Given the description of an element on the screen output the (x, y) to click on. 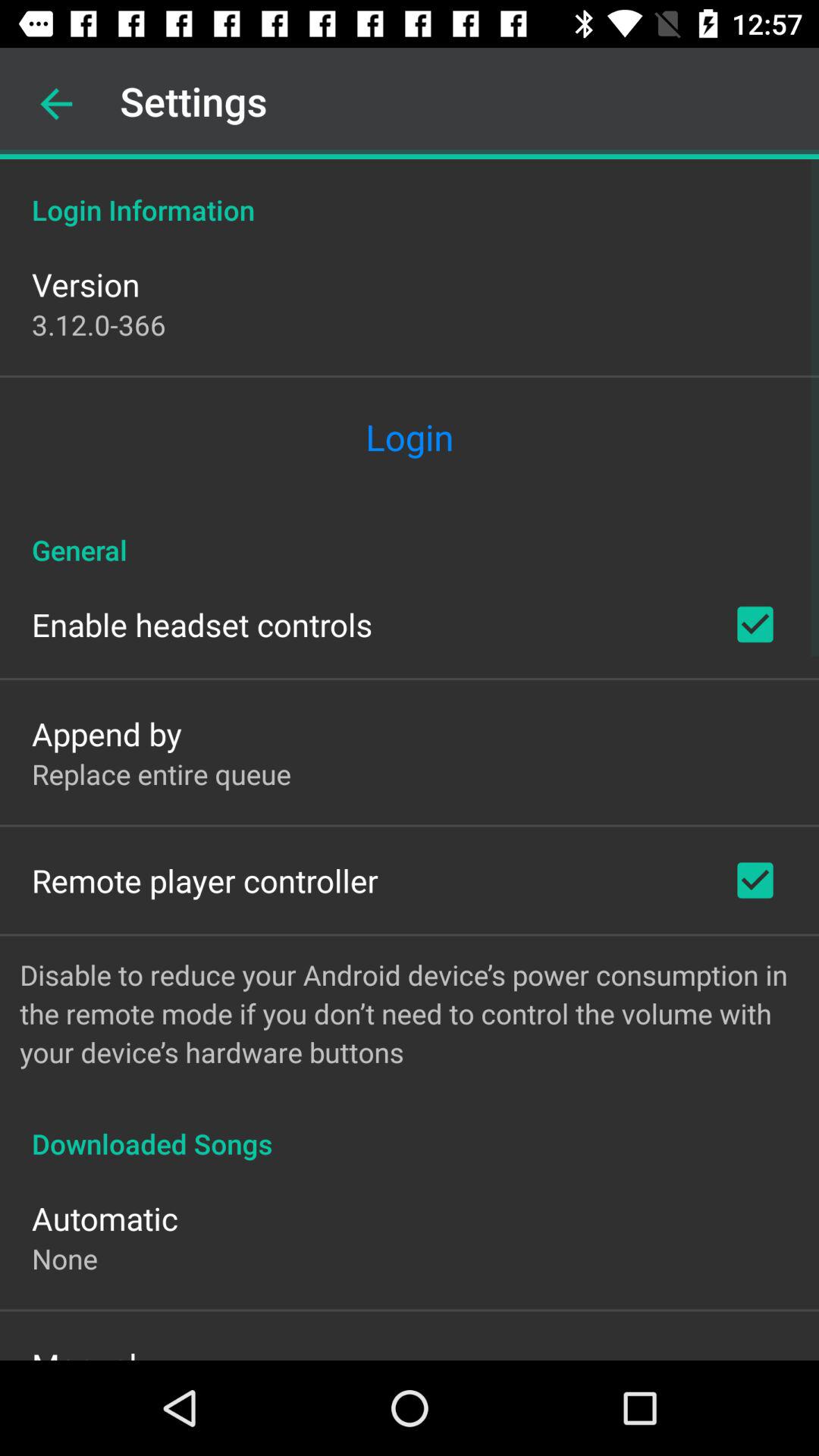
click item below login item (409, 533)
